Given the description of an element on the screen output the (x, y) to click on. 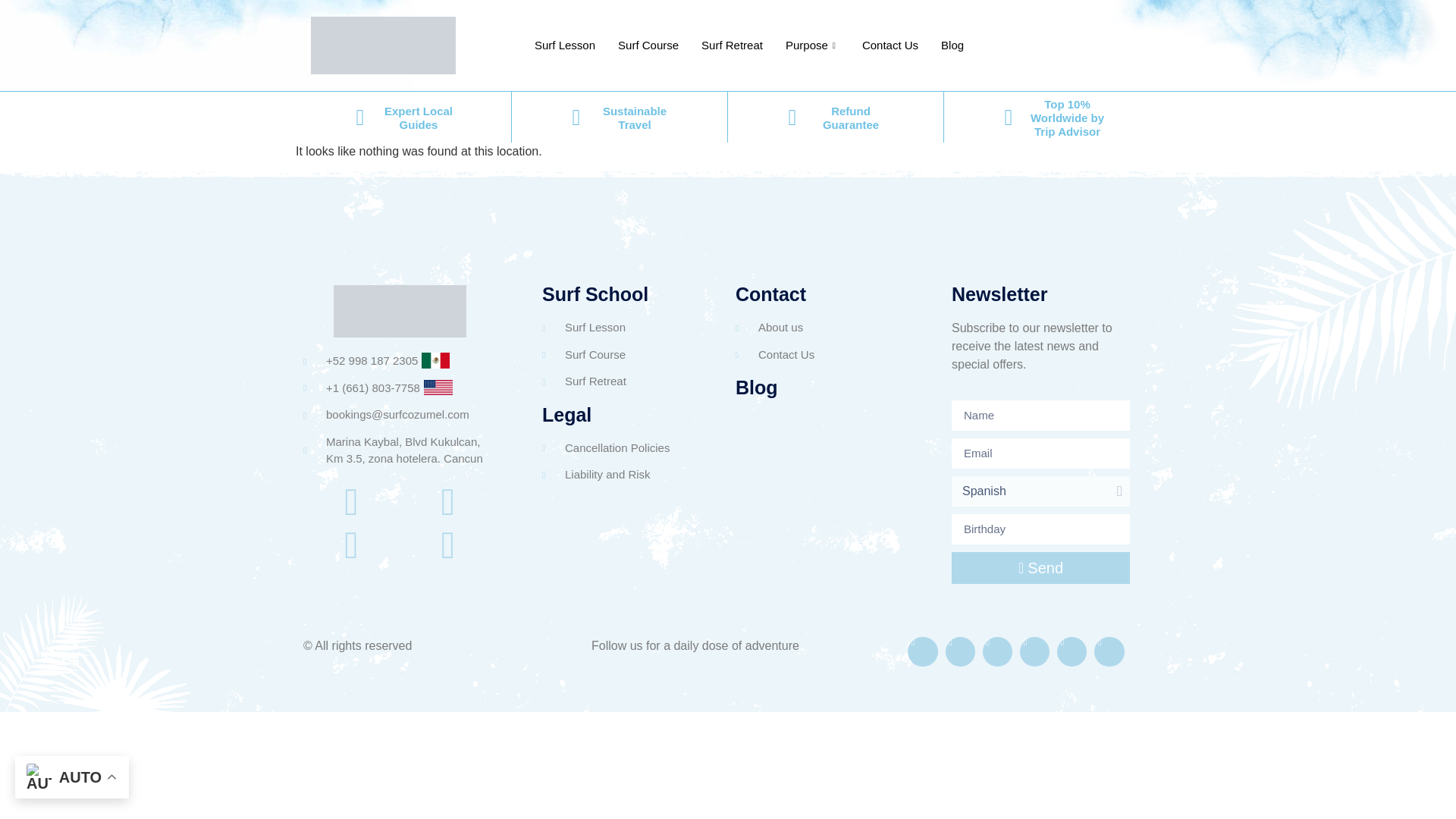
Marina Kaybal, Blvd Kukulcan, Km 3.5, zona hotelera. Cancun (399, 450)
Surf Lesson (564, 45)
Surf Lesson (627, 327)
Purpose (812, 45)
About us (831, 327)
Liability and Risk (627, 475)
Cancellation Policies (627, 448)
Surf Retreat (627, 381)
Sustainable Travel (634, 117)
Surf Retreat (732, 45)
